Given the description of an element on the screen output the (x, y) to click on. 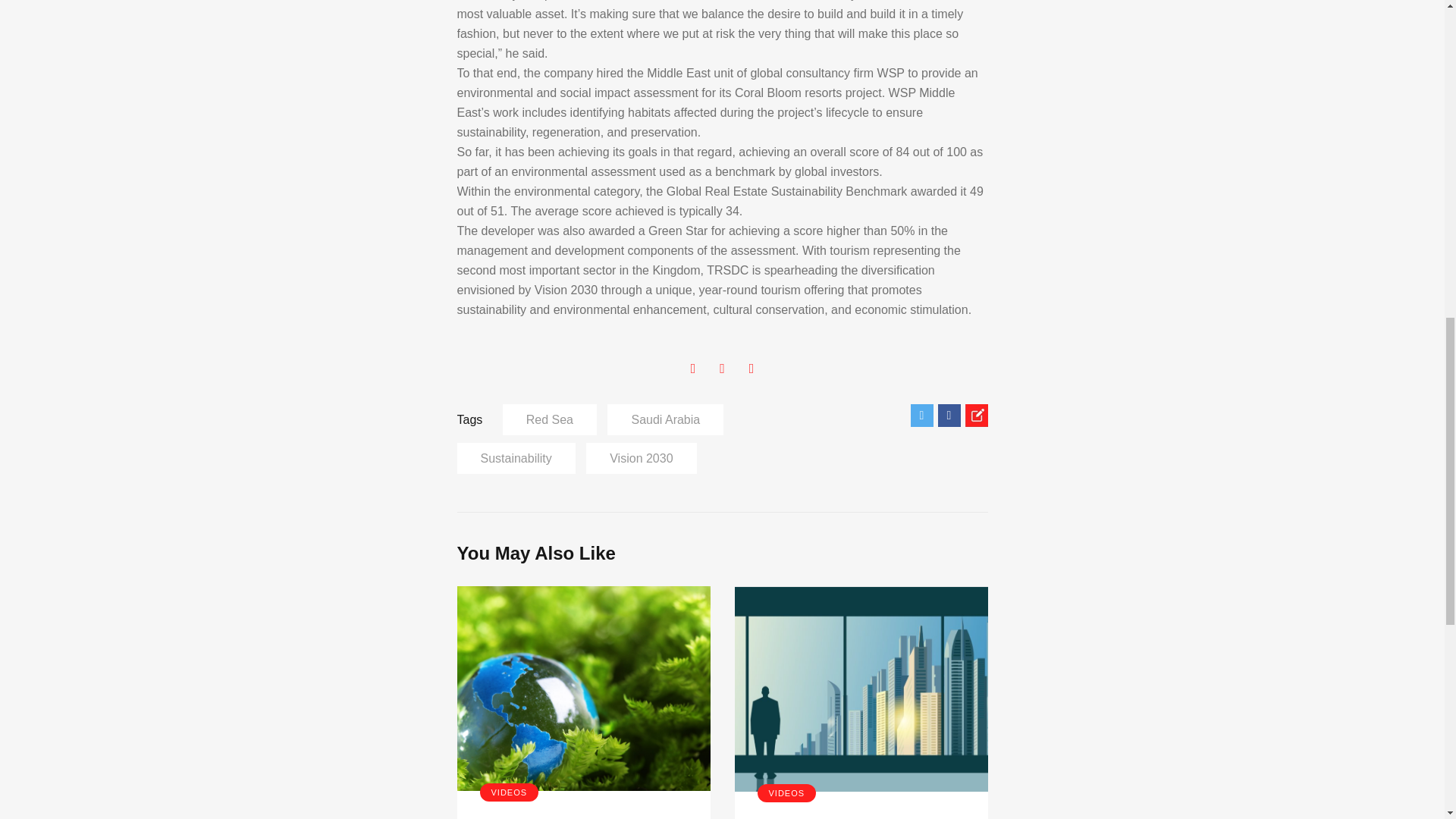
Share on Reddit (975, 415)
Share on Twitter (921, 415)
Share on Facebook (948, 415)
